Given the description of an element on the screen output the (x, y) to click on. 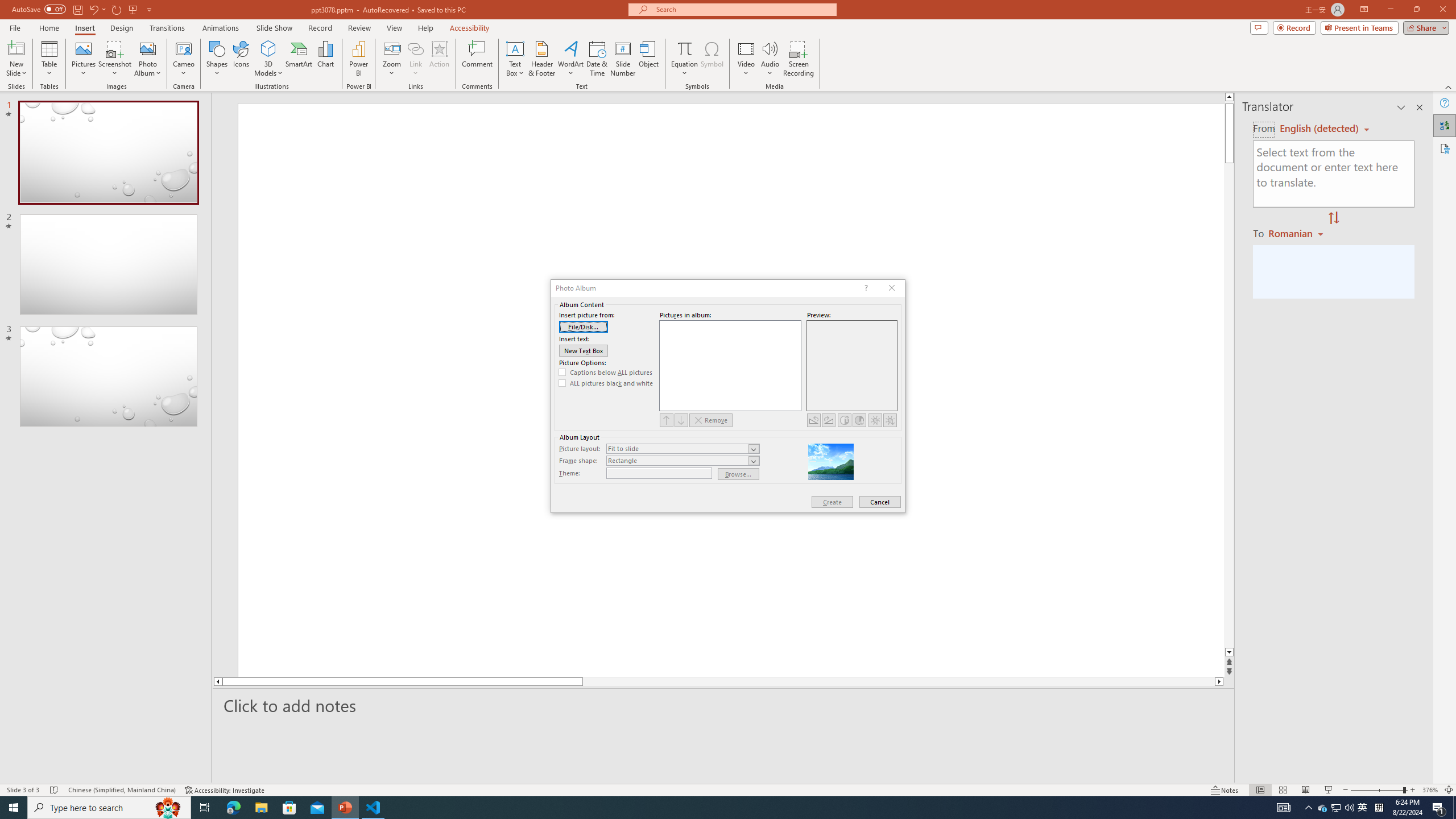
Object... (649, 58)
Power BI (358, 58)
Action (439, 58)
